Given the description of an element on the screen output the (x, y) to click on. 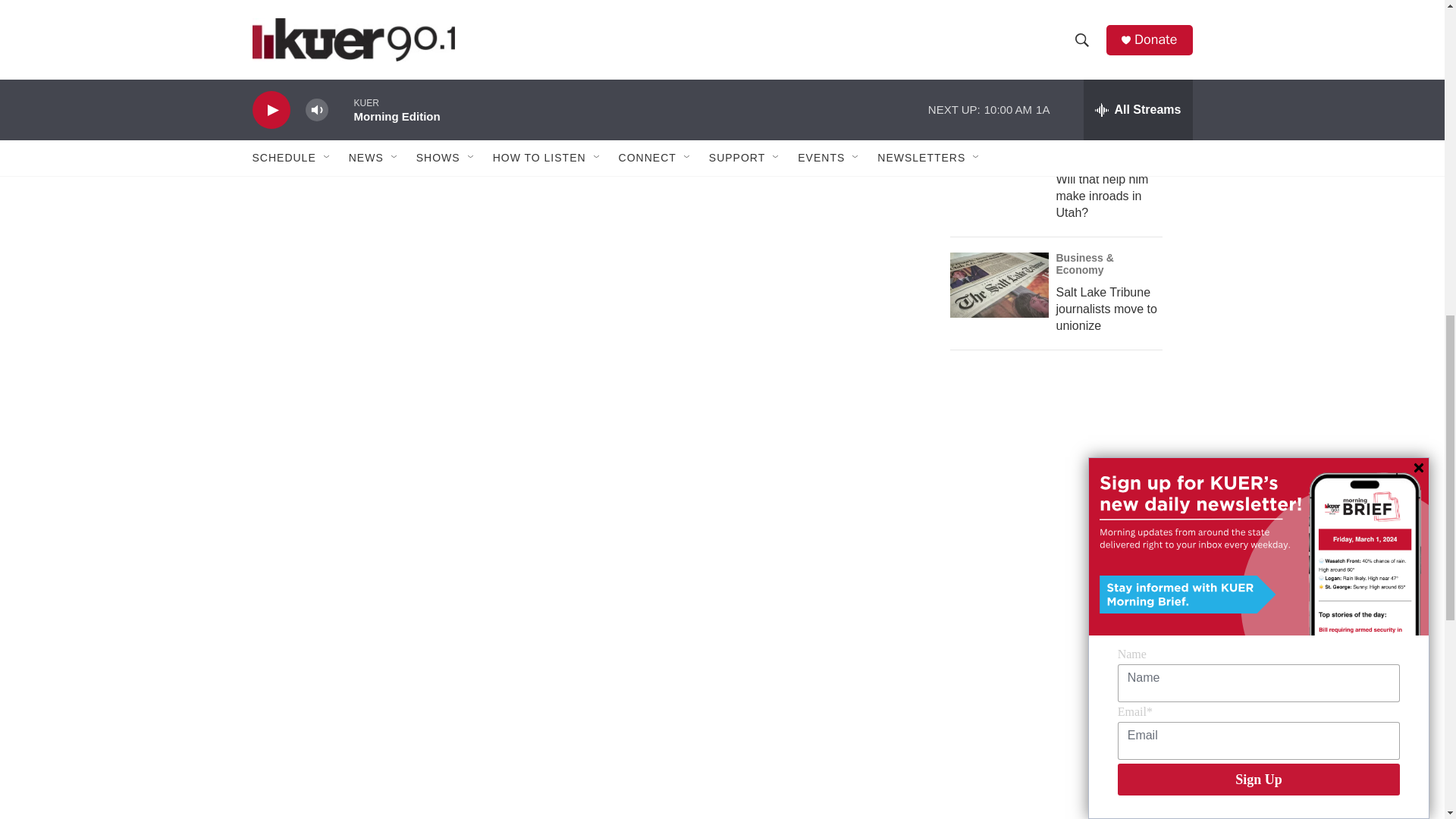
3rd party ad content (1062, 728)
3rd party ad content (1062, 494)
